Given the description of an element on the screen output the (x, y) to click on. 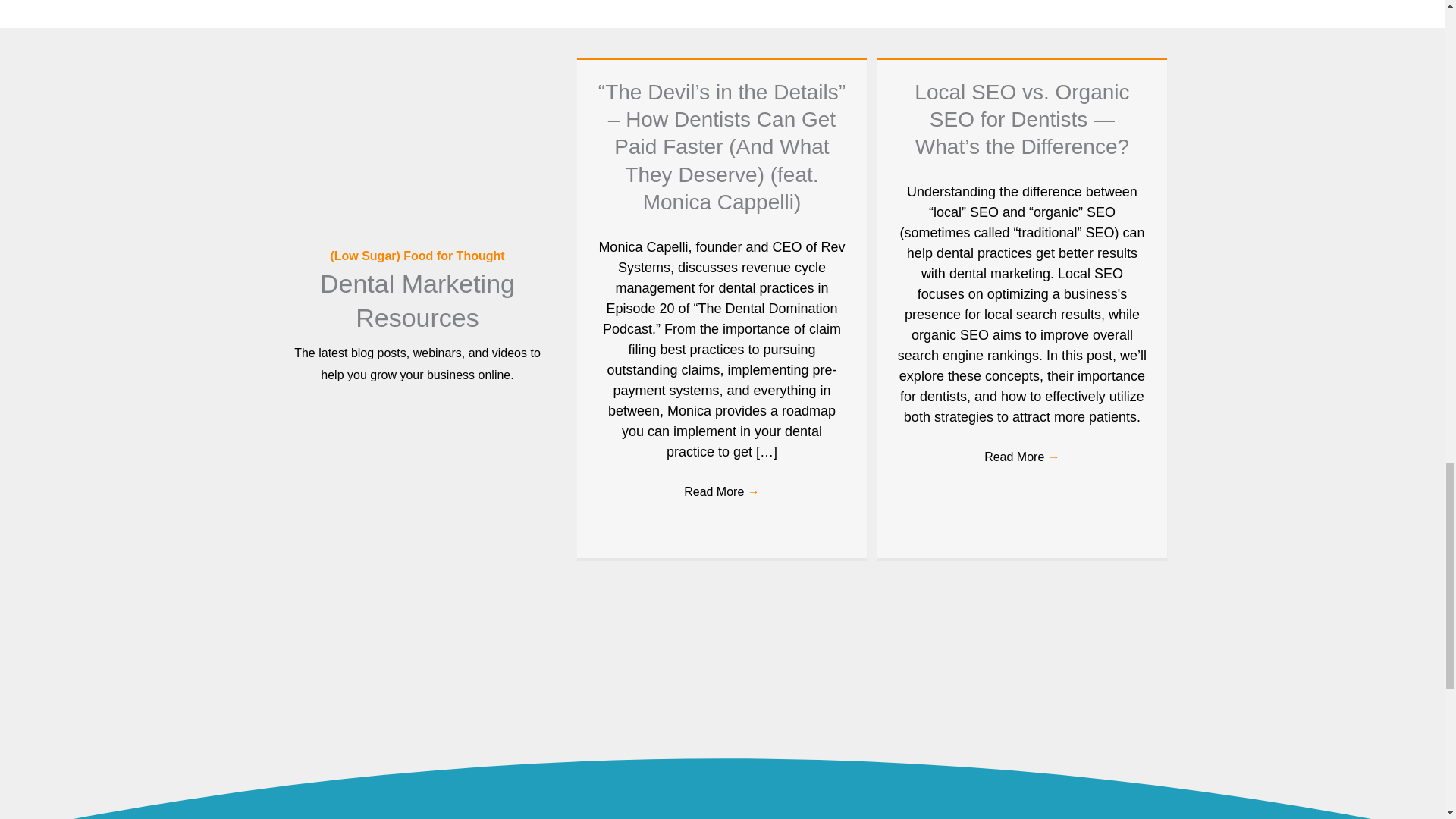
Top SEO Agency - Upcity (539, 676)
Top-Marketing-Agencies-Logo-PNG (721, 676)
image (357, 676)
